Given the description of an element on the screen output the (x, y) to click on. 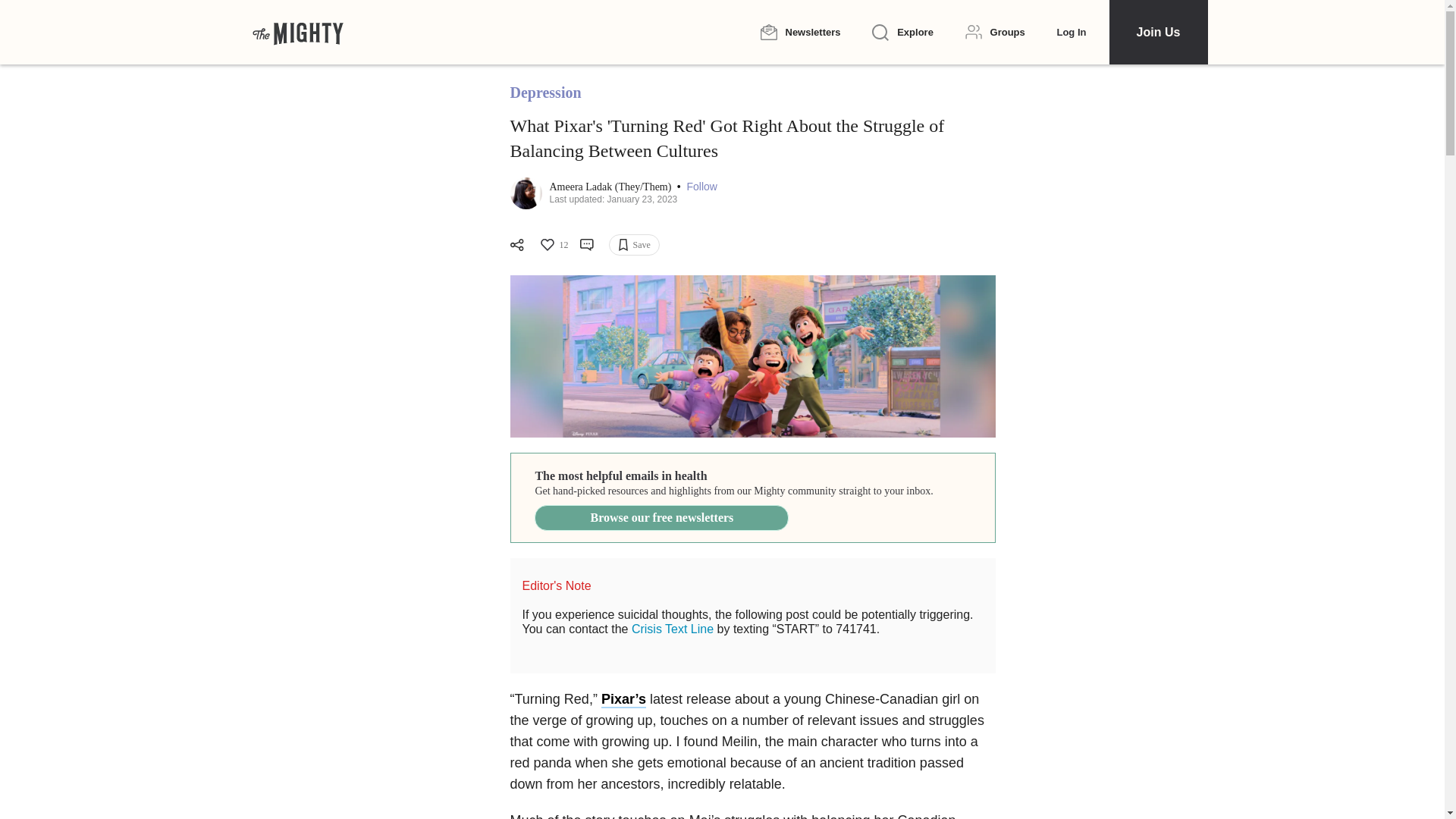
Explore (902, 32)
Follow (702, 186)
Depression (544, 92)
Join Us (1157, 32)
Browse our free newsletters (661, 517)
12 (552, 244)
The Mighty (296, 32)
Crisis Text Line (672, 628)
Newsletters (800, 31)
